Given the description of an element on the screen output the (x, y) to click on. 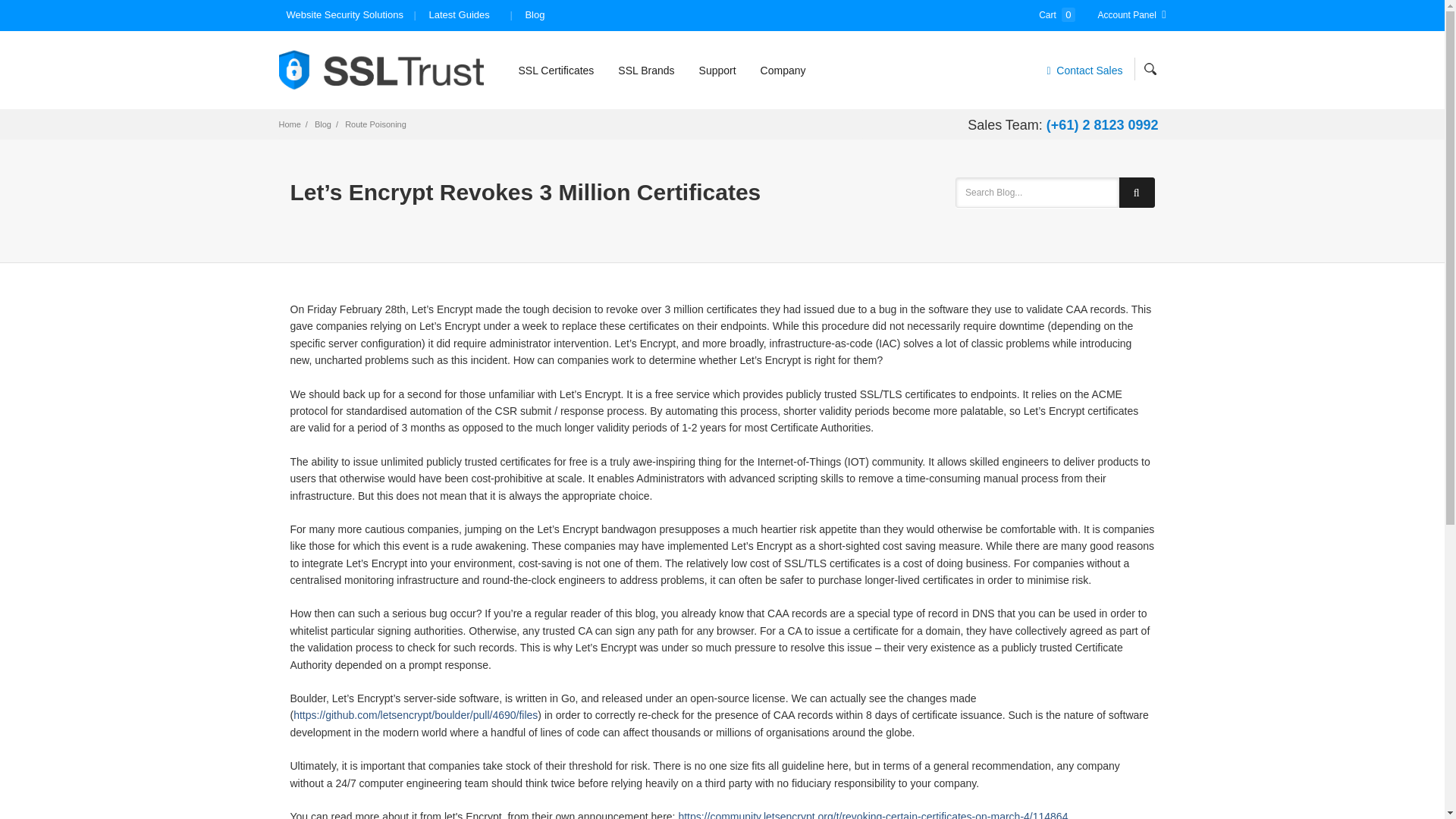
Company (783, 70)
Cart 0 (1056, 15)
SSLTrust Support Centre (716, 70)
Latest Guides (459, 15)
SSL Brands (646, 70)
Account Panel (1131, 15)
Blog (534, 15)
Home (290, 123)
Support (716, 70)
SSL Certificates (556, 70)
